Given the description of an element on the screen output the (x, y) to click on. 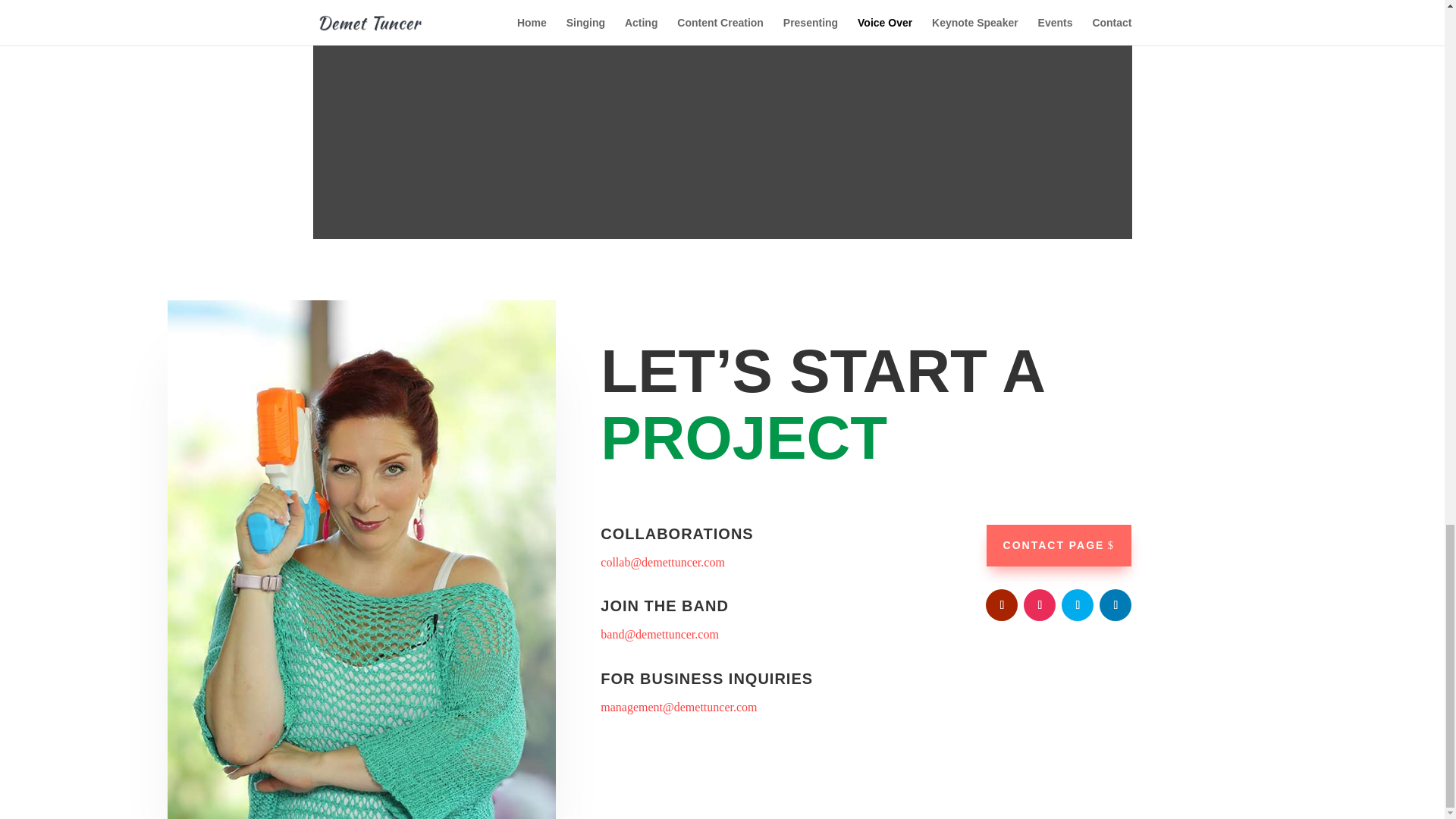
Follow on Twitter (1077, 604)
CONTACT PAGE (1059, 545)
Follow on Youtube (1001, 604)
Follow on LinkedIn (1115, 604)
Follow on Instagram (1039, 604)
